Given the description of an element on the screen output the (x, y) to click on. 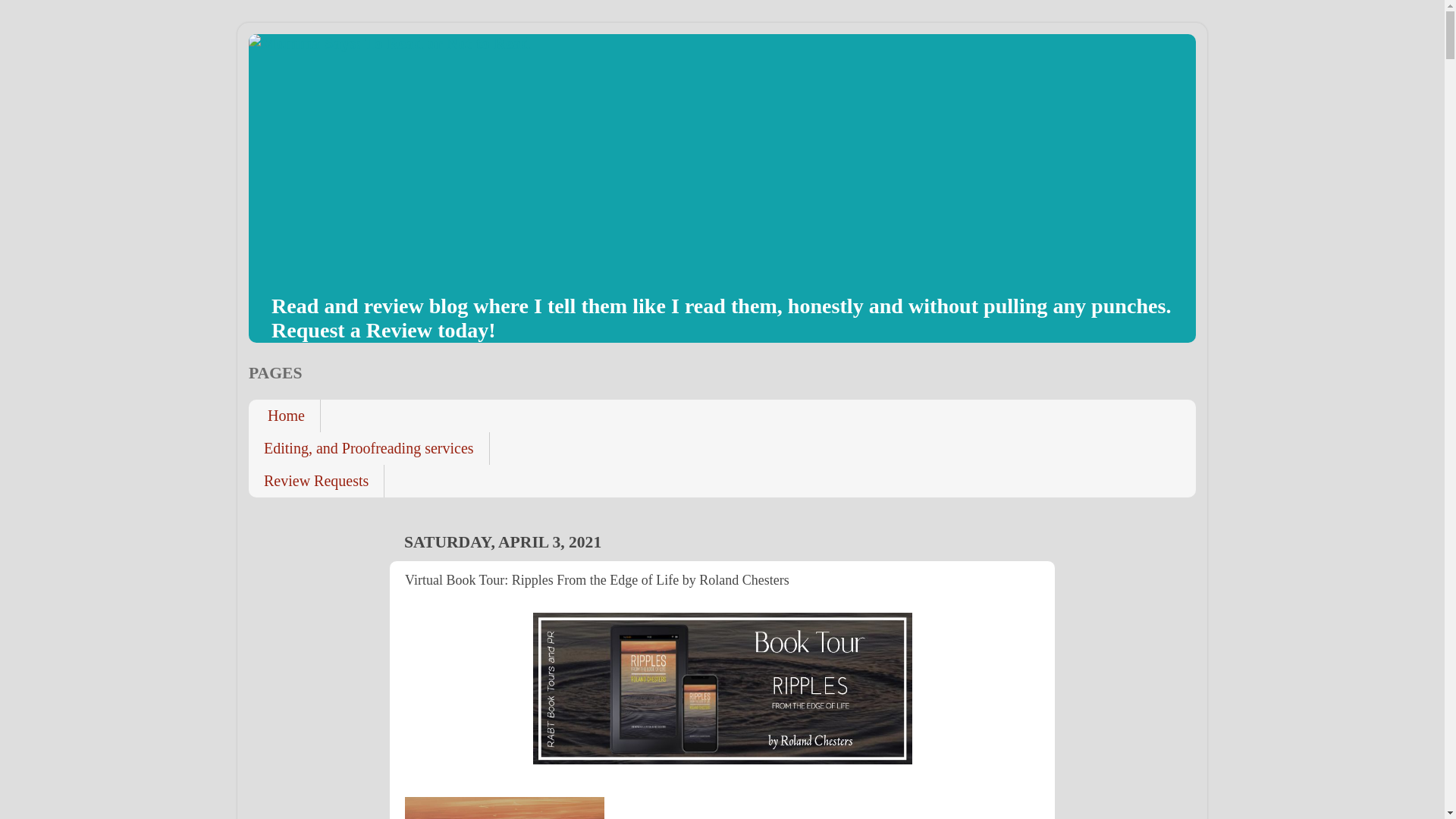
Editing, and Proofreading services (368, 448)
Review Requests (316, 481)
Home (284, 415)
